Given the description of an element on the screen output the (x, y) to click on. 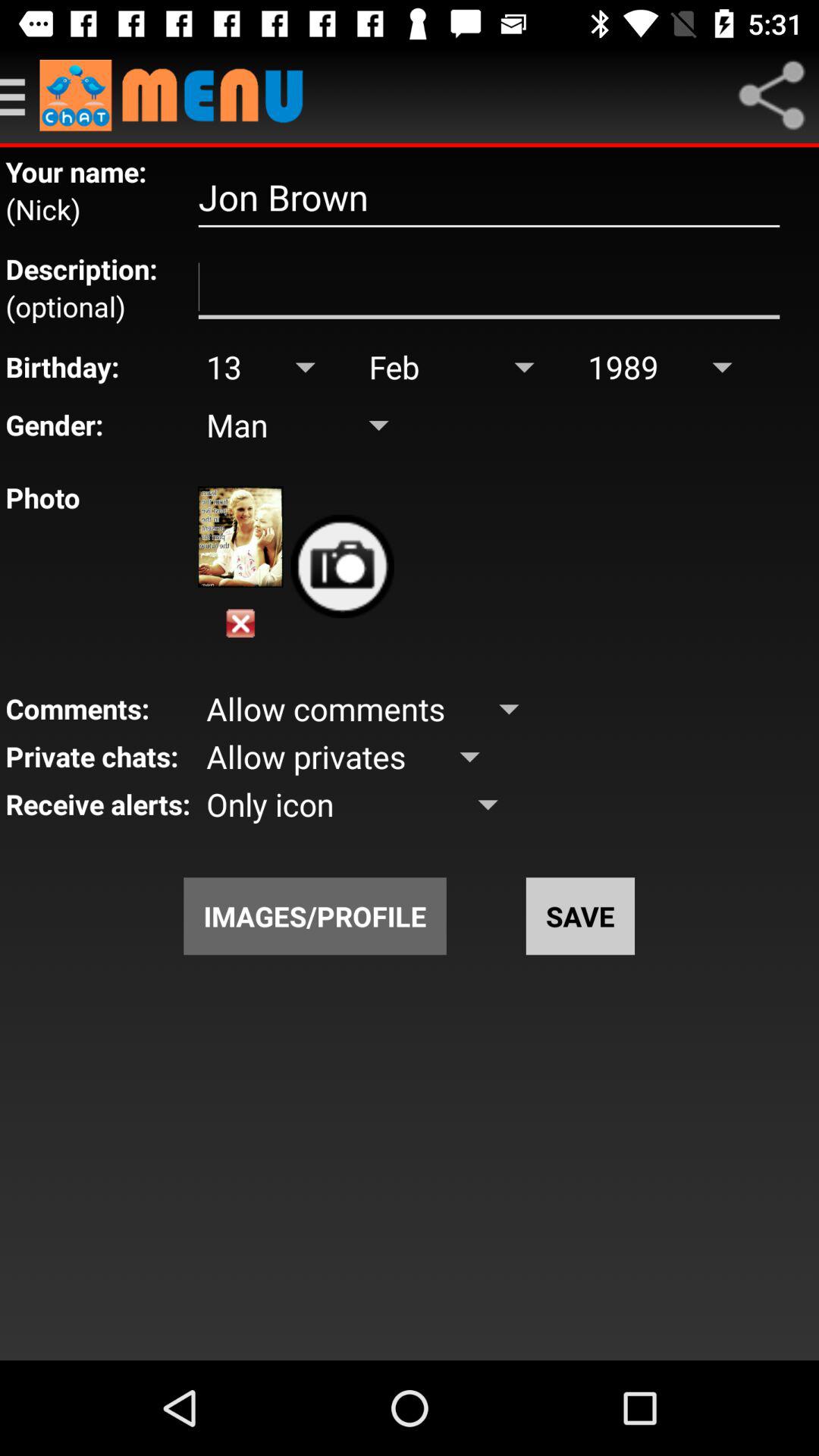
share page (771, 95)
